Given the description of an element on the screen output the (x, y) to click on. 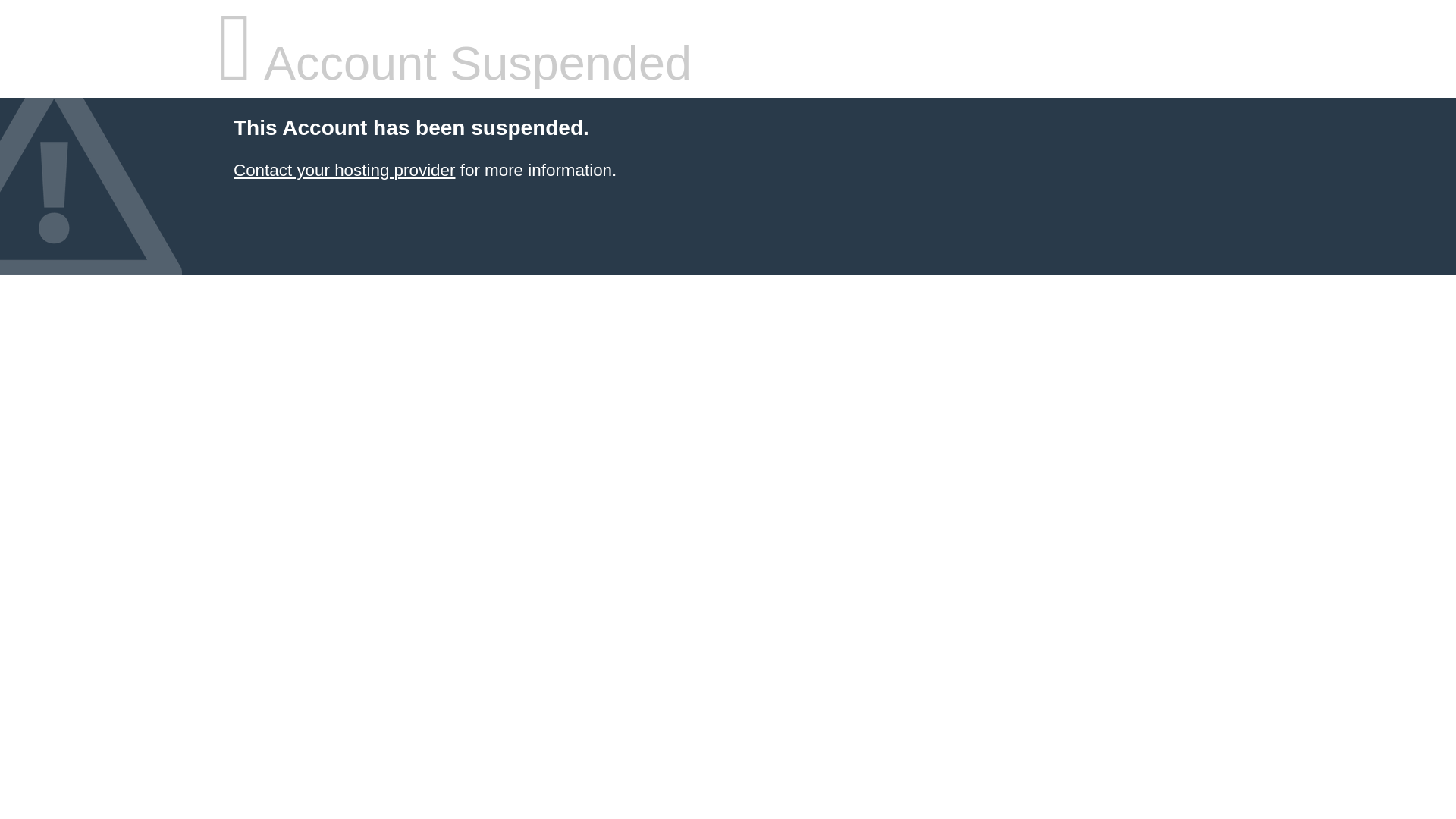
Contact your hosting provider (343, 169)
